Given the description of an element on the screen output the (x, y) to click on. 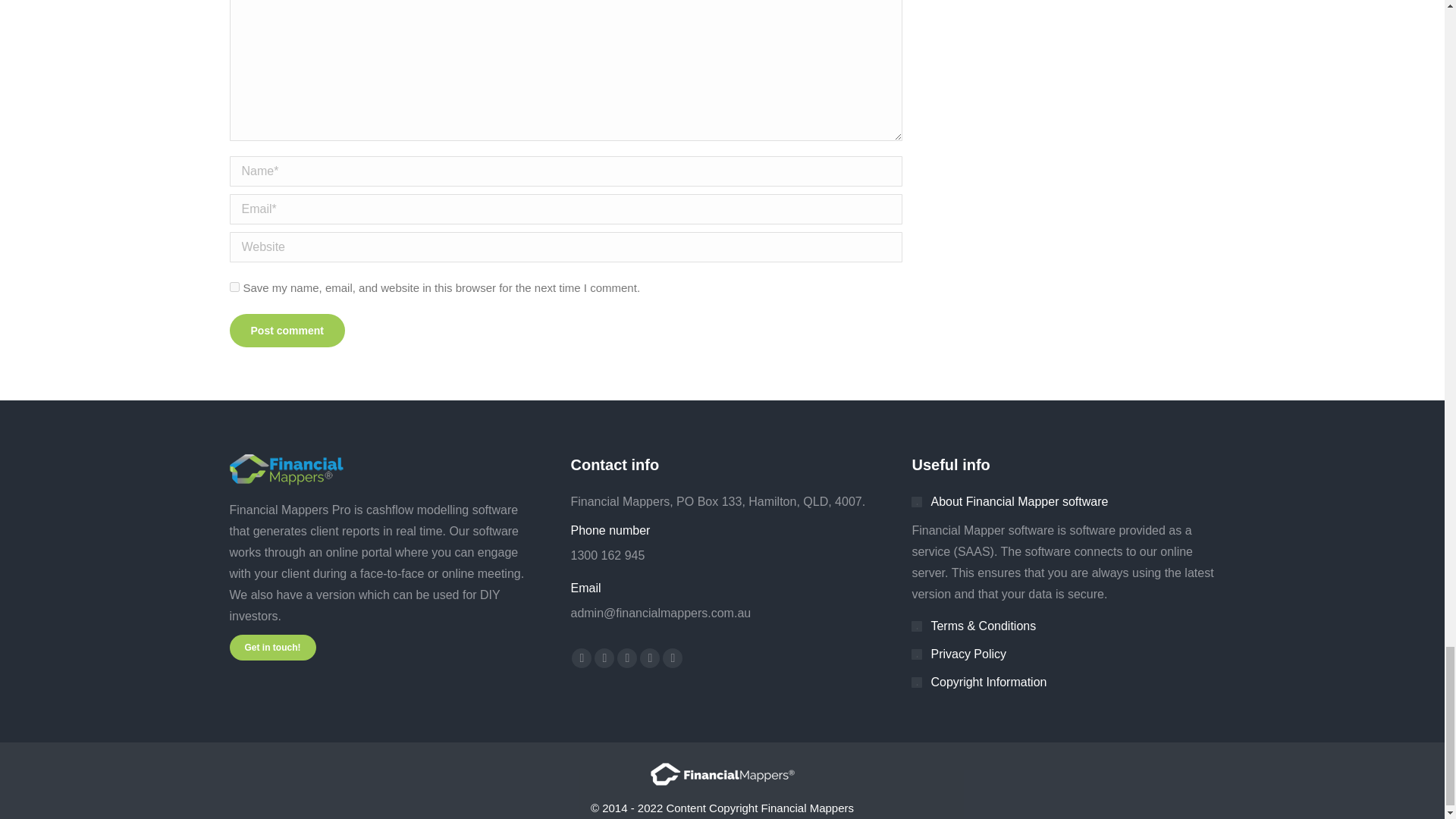
yes (233, 286)
